Given the description of an element on the screen output the (x, y) to click on. 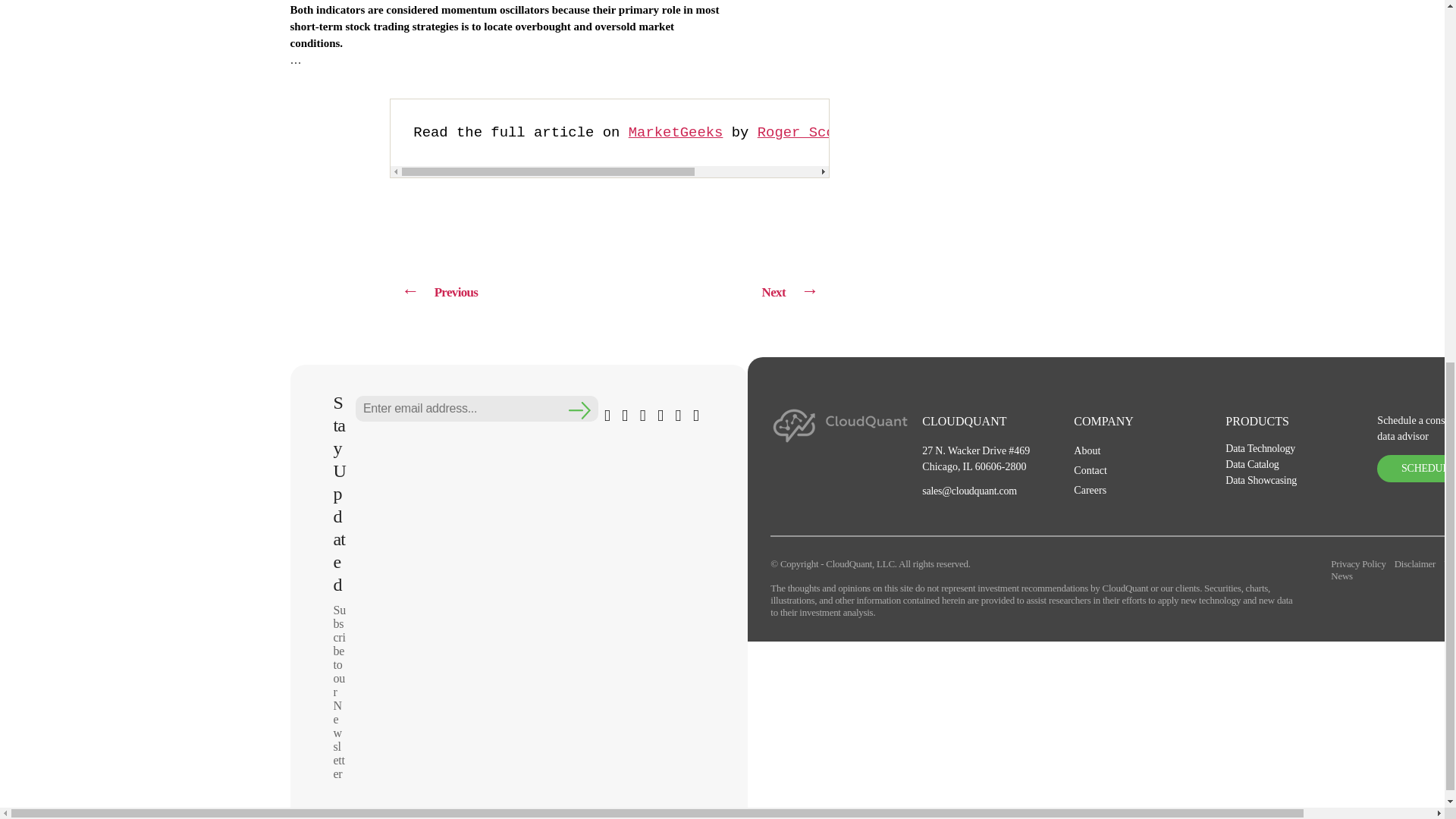
Subscribe (580, 411)
Posts by Roger Scott (804, 132)
